Given the description of an element on the screen output the (x, y) to click on. 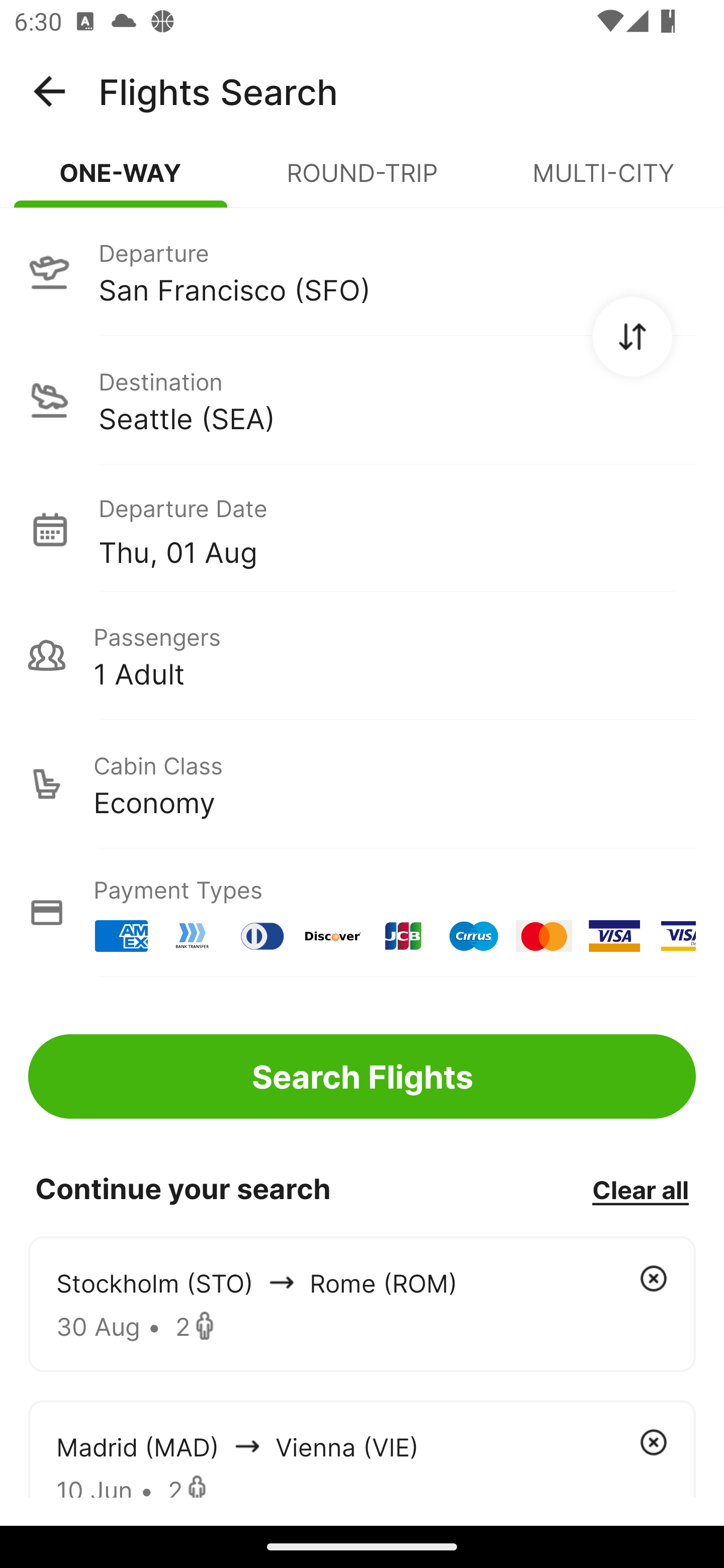
ONE-WAY (120, 180)
ROUND-TRIP (361, 180)
MULTI-CITY (603, 180)
Departure San Francisco (SFO) (362, 270)
Destination Seattle (SEA) (362, 400)
Departure Date Thu, 01 Aug (396, 528)
Passengers 1 Adult (362, 655)
Cabin Class Economy (362, 783)
Payment Types (362, 912)
Search Flights (361, 1075)
Clear all (640, 1189)
Madrid (MAD)  arrowIcon  Vienna (VIE) 10 Jun •  2  (361, 1448)
